Given the description of an element on the screen output the (x, y) to click on. 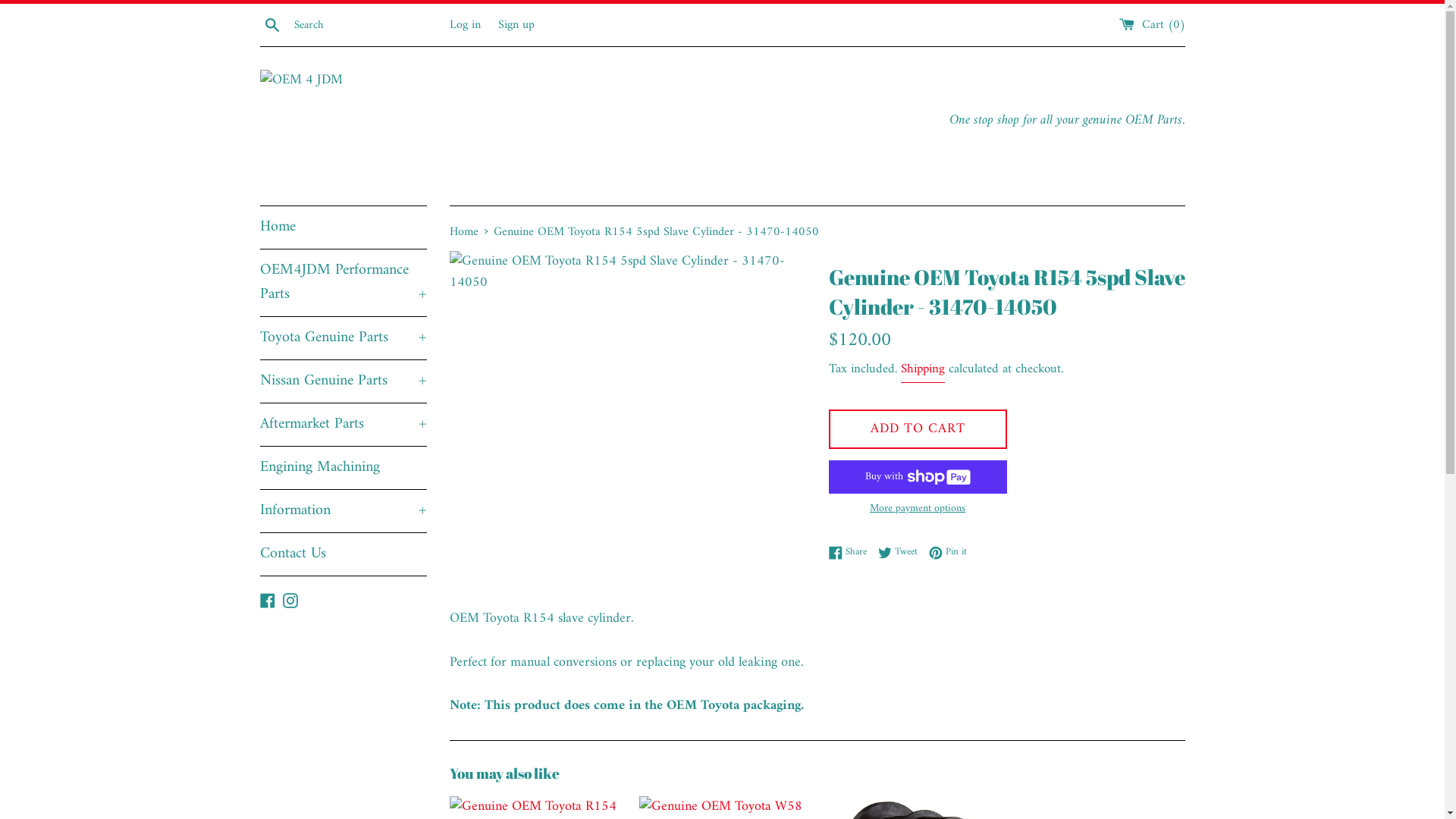
Tweet
Tweet on Twitter Element type: text (901, 551)
Facebook Element type: text (266, 599)
Search Element type: text (271, 25)
Engining Machining Element type: text (342, 467)
Sign up Element type: text (515, 23)
Pin it
Pin on Pinterest Element type: text (947, 551)
ADD TO CART Element type: text (917, 428)
Nissan Genuine Parts
+ Element type: text (342, 381)
Home Element type: text (464, 231)
Toyota Genuine Parts
+ Element type: text (342, 337)
Share
Share on Facebook Element type: text (850, 551)
Log in Element type: text (464, 23)
More payment options Element type: text (917, 508)
Home Element type: text (342, 227)
Contact Us Element type: text (342, 554)
Information
+ Element type: text (342, 510)
Instagram Element type: text (289, 599)
Cart (0) Element type: text (1152, 23)
OEM4JDM Performance Parts
+ Element type: text (342, 282)
Shipping Element type: text (922, 369)
Aftermarket Parts
+ Element type: text (342, 424)
